Given the description of an element on the screen output the (x, y) to click on. 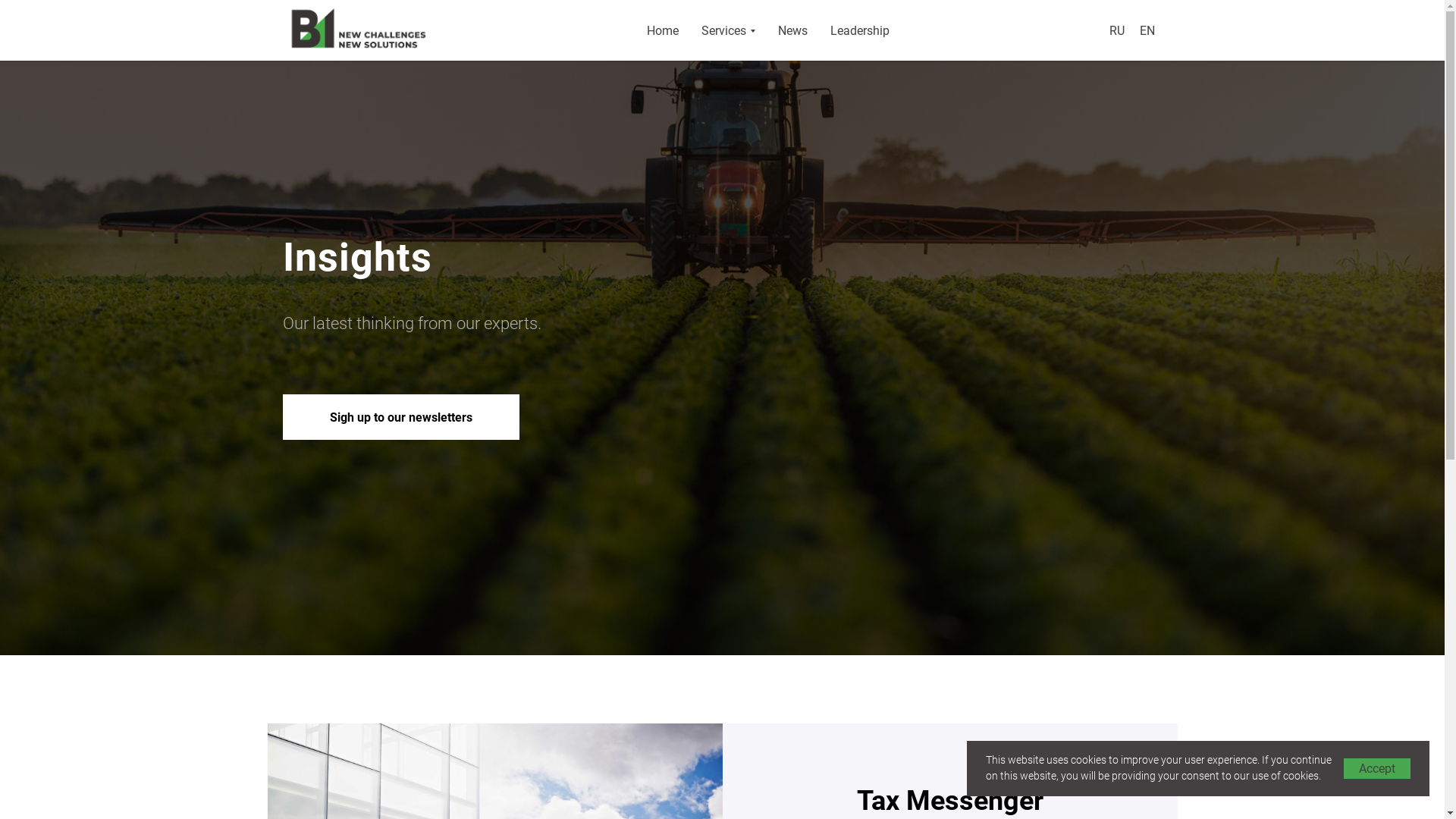
Home Element type: text (661, 29)
Sigh up to our newsletters Element type: text (400, 416)
RU Element type: text (1115, 29)
Leadership Element type: text (858, 29)
EN Element type: text (1146, 29)
Services Element type: text (727, 29)
News Element type: text (792, 29)
